Given the description of an element on the screen output the (x, y) to click on. 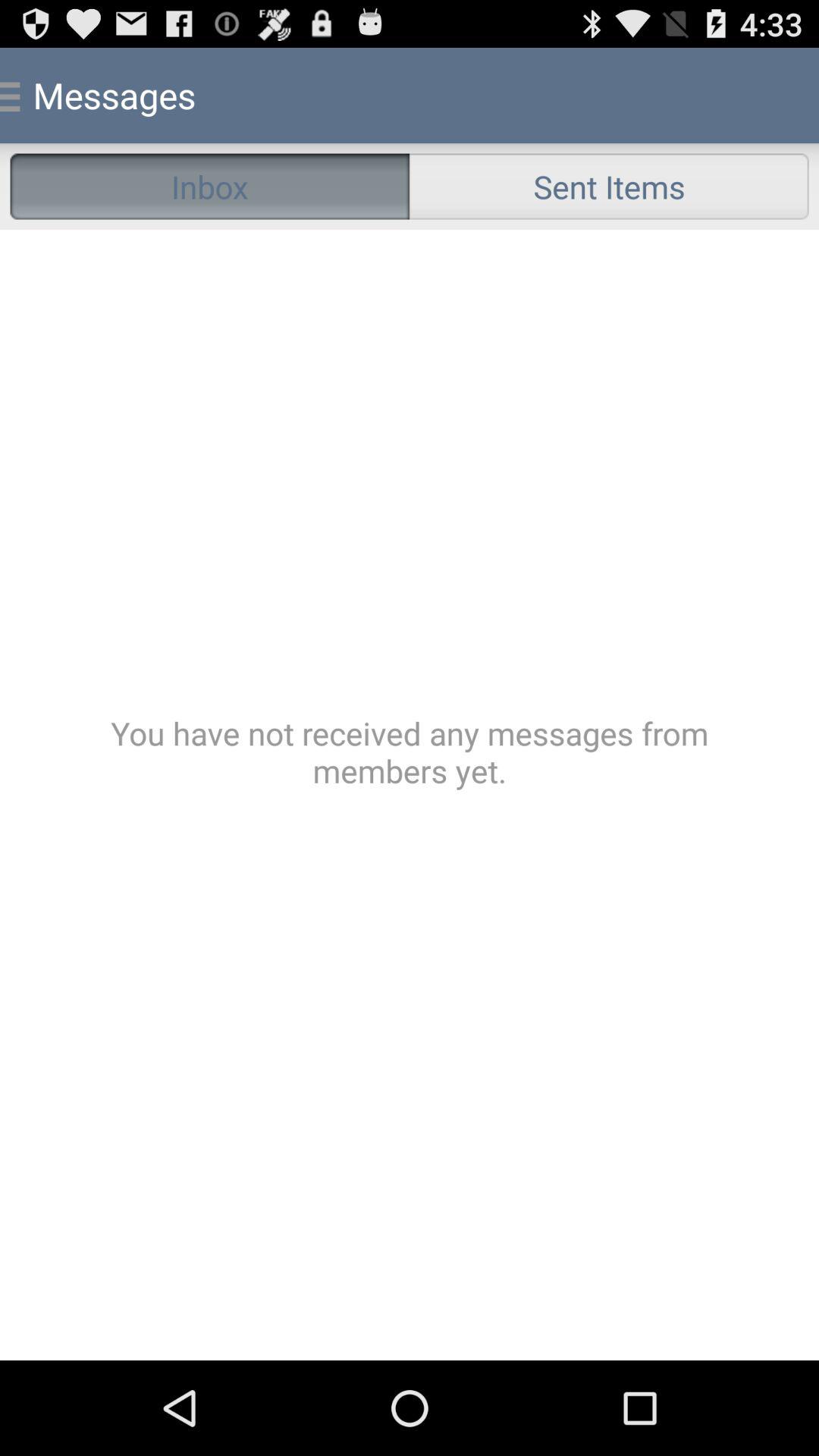
press the icon below the messages app (209, 186)
